Given the description of an element on the screen output the (x, y) to click on. 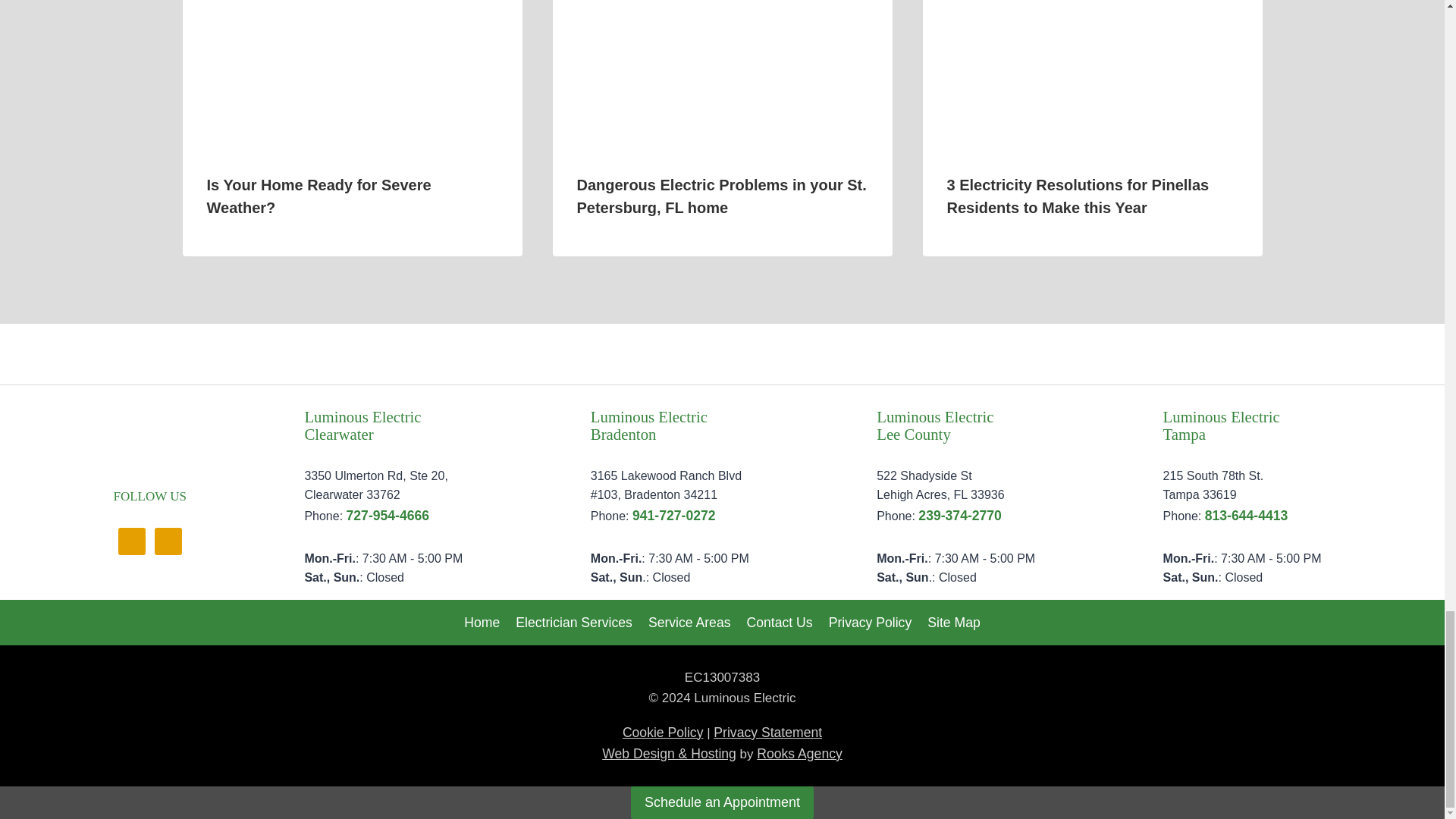
Tampa-Sarasota Web Design (669, 753)
Tampa-Sarasota Marketing Company (799, 753)
